Given the description of an element on the screen output the (x, y) to click on. 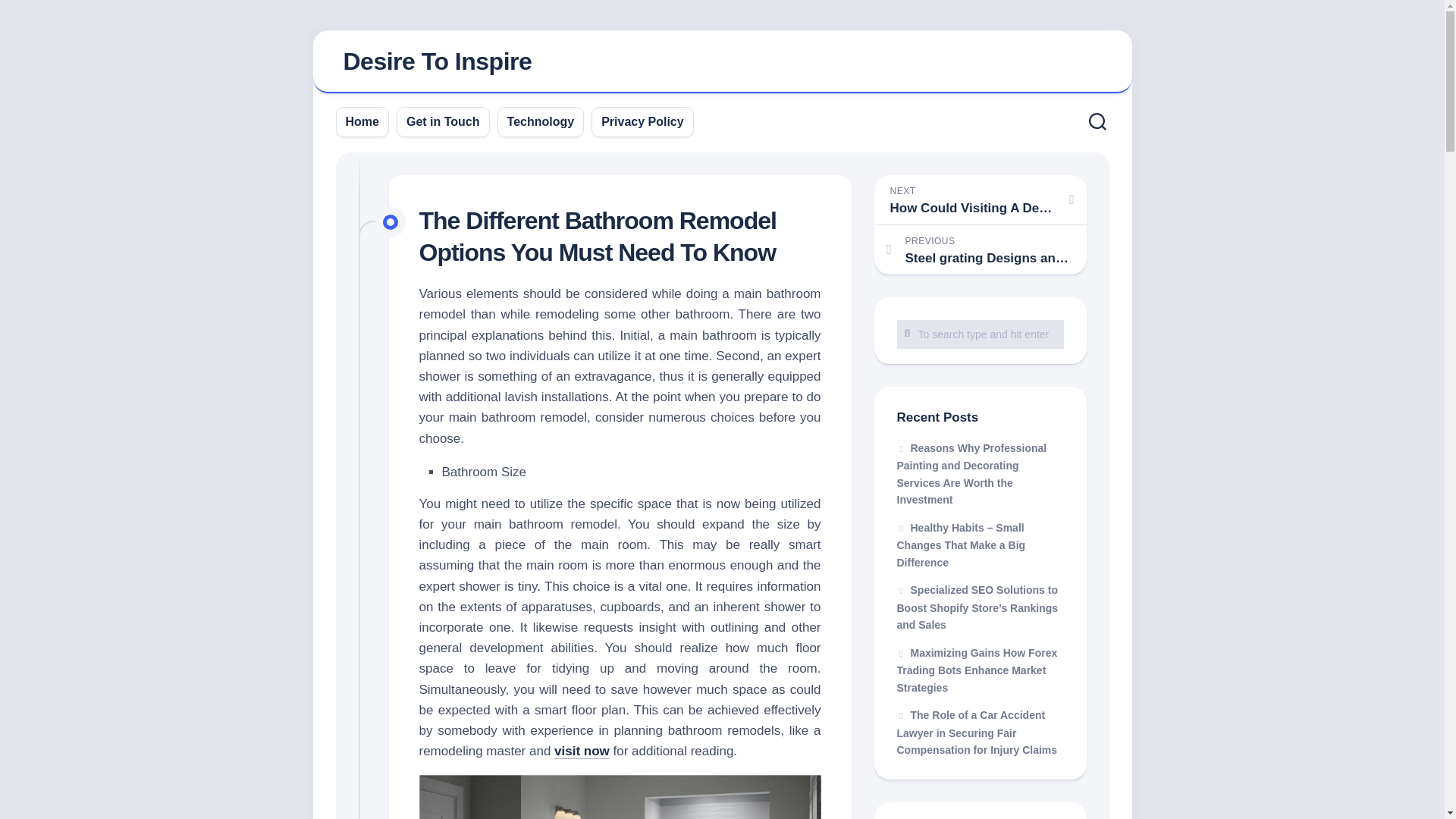
To search type and hit enter (979, 334)
To search type and hit enter (979, 334)
visit now (582, 750)
Desire To Inspire (436, 61)
Get in Touch (443, 121)
Privacy Policy (642, 121)
Desire To Inspire (722, 62)
Home (362, 121)
Technology (979, 199)
